Given the description of an element on the screen output the (x, y) to click on. 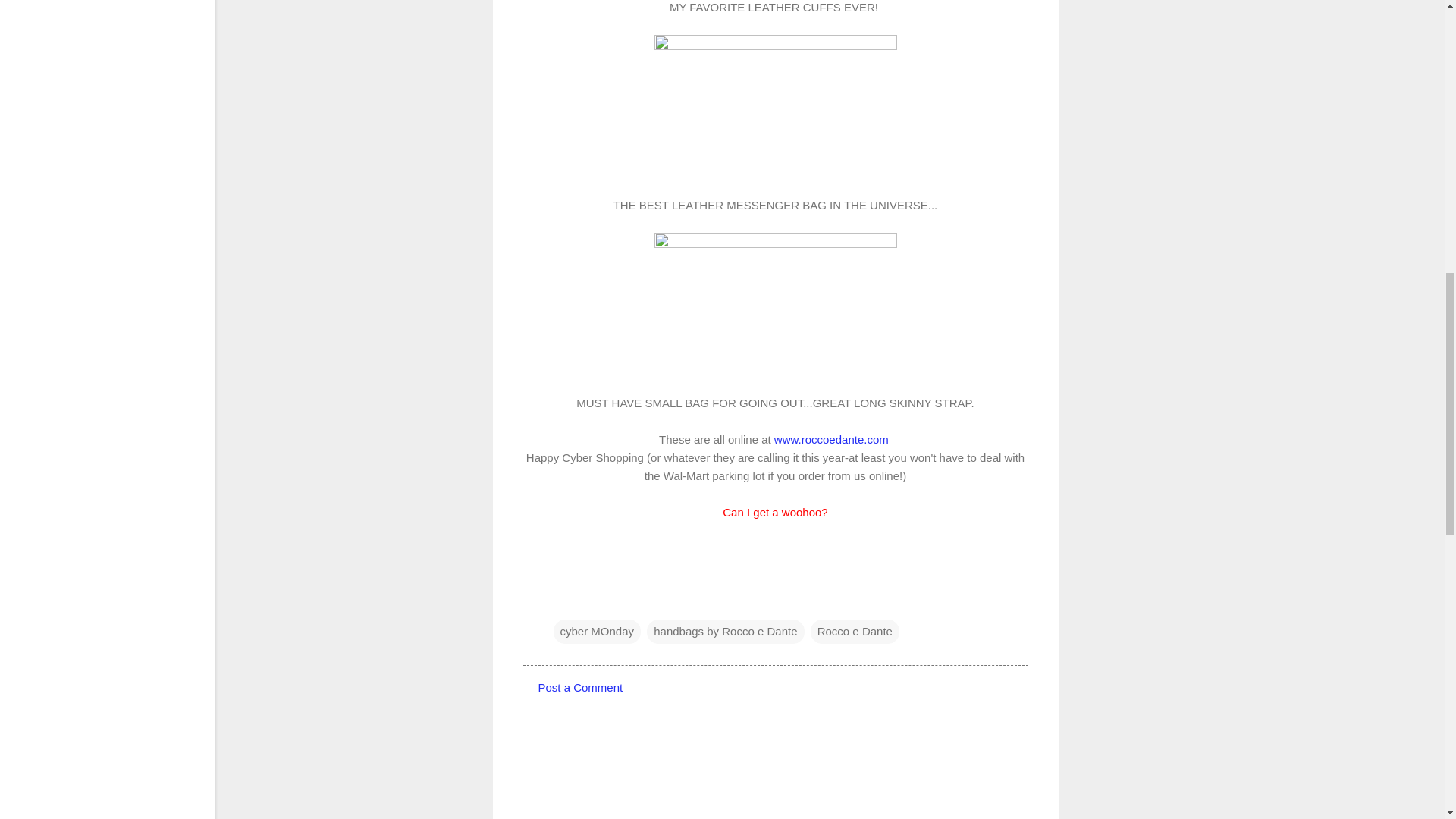
handbags by Rocco e Dante (724, 631)
Post a Comment (580, 686)
www.roccoedante.com  (832, 439)
cyber MOnday (597, 631)
Rocco e Dante (854, 631)
Email Post (562, 600)
